Given the description of an element on the screen output the (x, y) to click on. 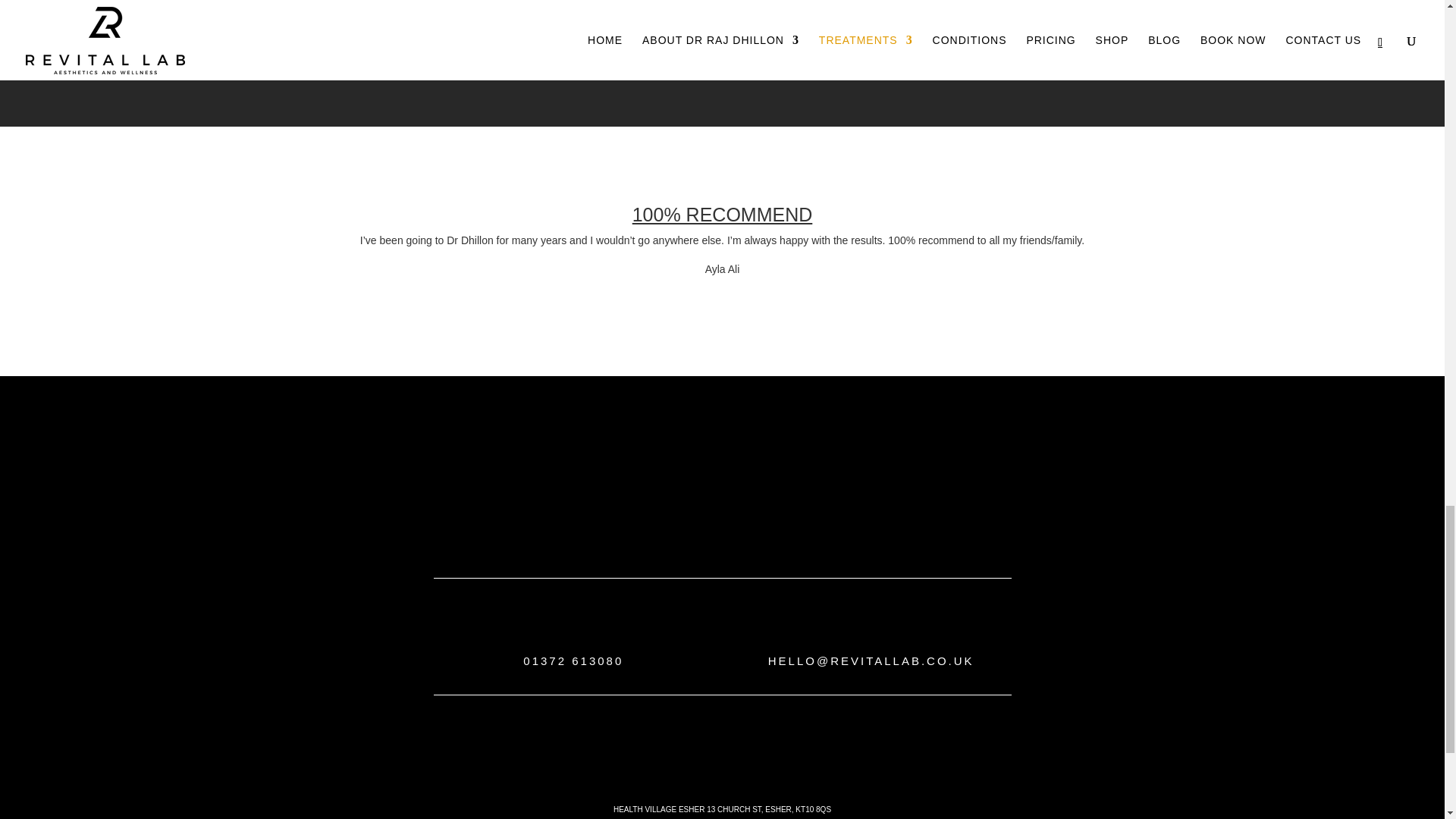
IMG-20221101-WA0007 (960, 63)
Revital white (721, 480)
